Given the description of an element on the screen output the (x, y) to click on. 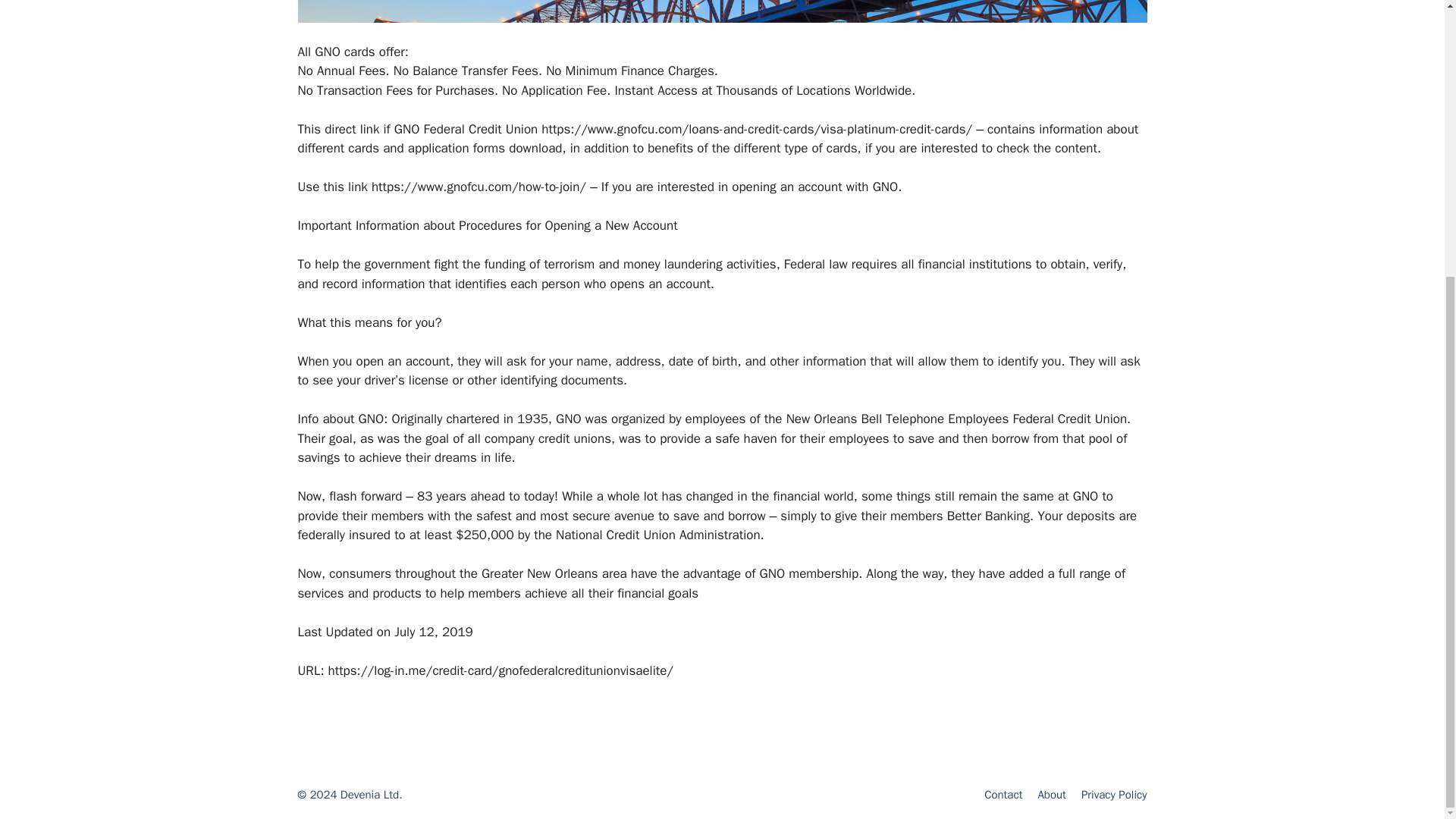
Contact (1003, 794)
Privacy Policy (1114, 794)
Log in to your GNO Federal Credit Union Visa Elite Account 1 (722, 11)
About (1050, 794)
